Given the description of an element on the screen output the (x, y) to click on. 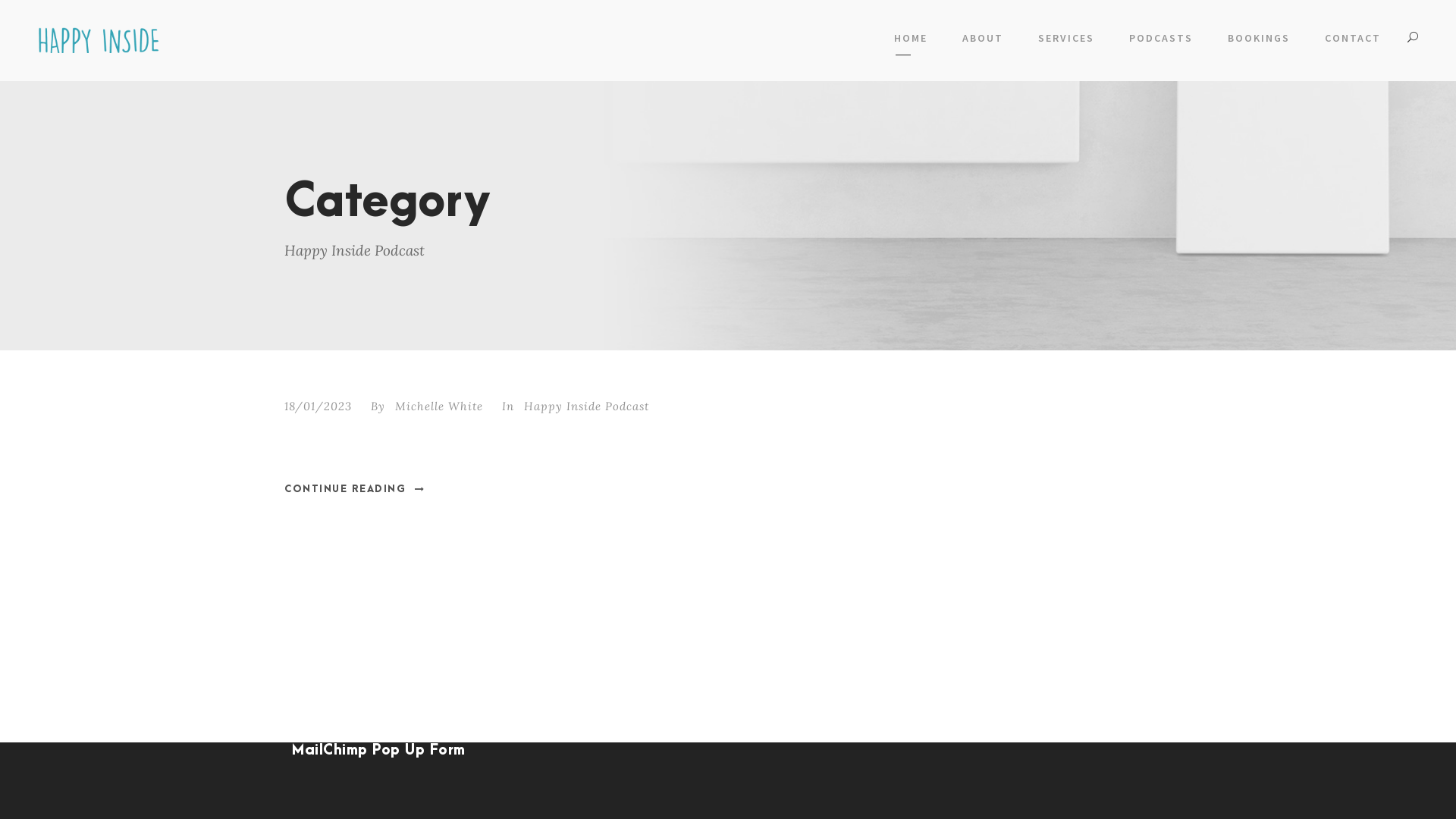
SERVICES Element type: text (1066, 41)
HOME Element type: text (910, 41)
Happy Inside Podcast Element type: text (586, 405)
BOOKINGS Element type: text (1258, 41)
18/01/2023 Element type: text (317, 405)
PODCASTS Element type: text (1160, 41)
CONTACT Element type: text (1352, 41)
Michelle White Element type: text (439, 405)
CONTINUE READING Element type: text (354, 488)
ABOUT Element type: text (982, 41)
